Given the description of an element on the screen output the (x, y) to click on. 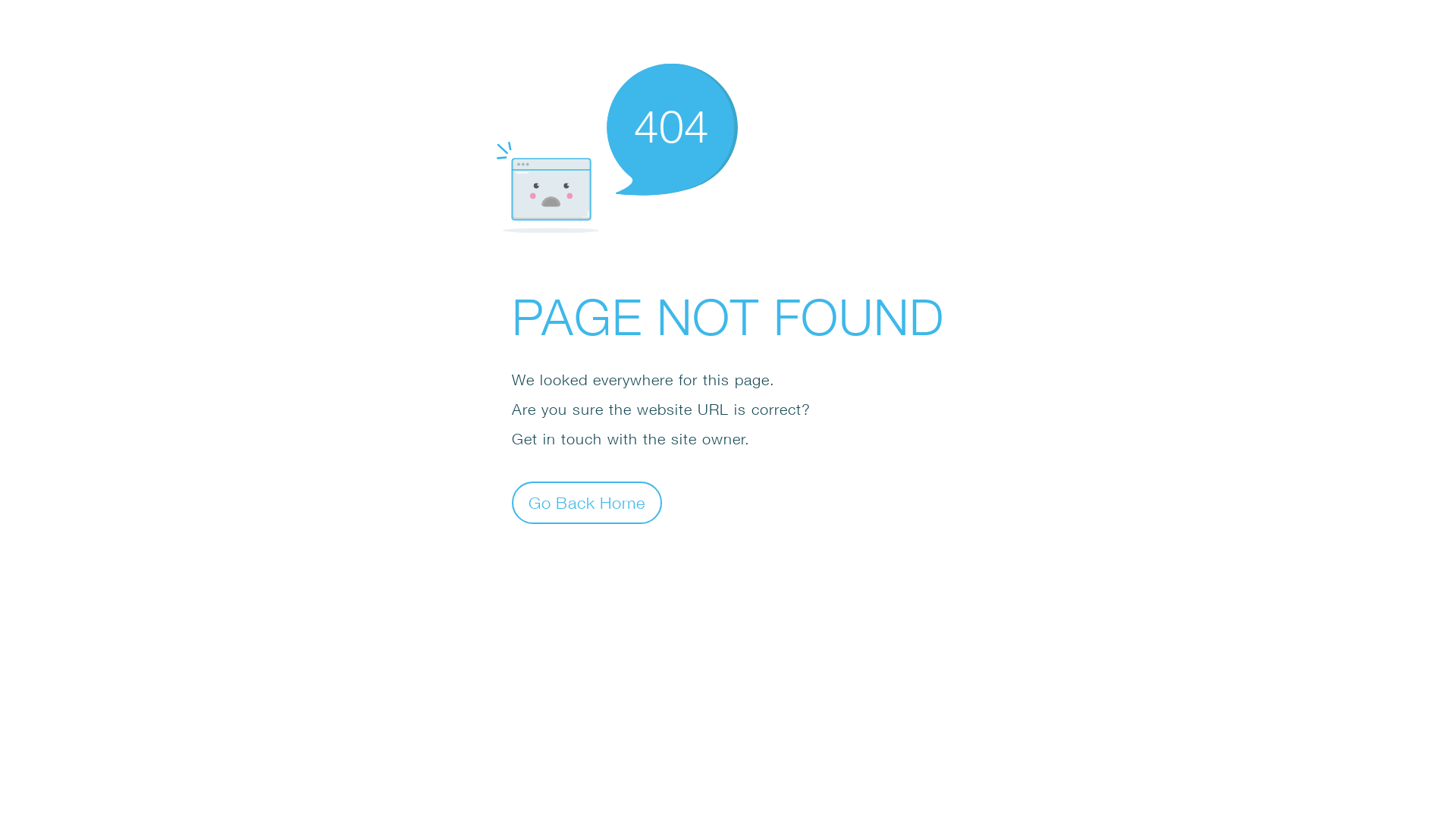
Go Back Home Element type: text (586, 502)
